Given the description of an element on the screen output the (x, y) to click on. 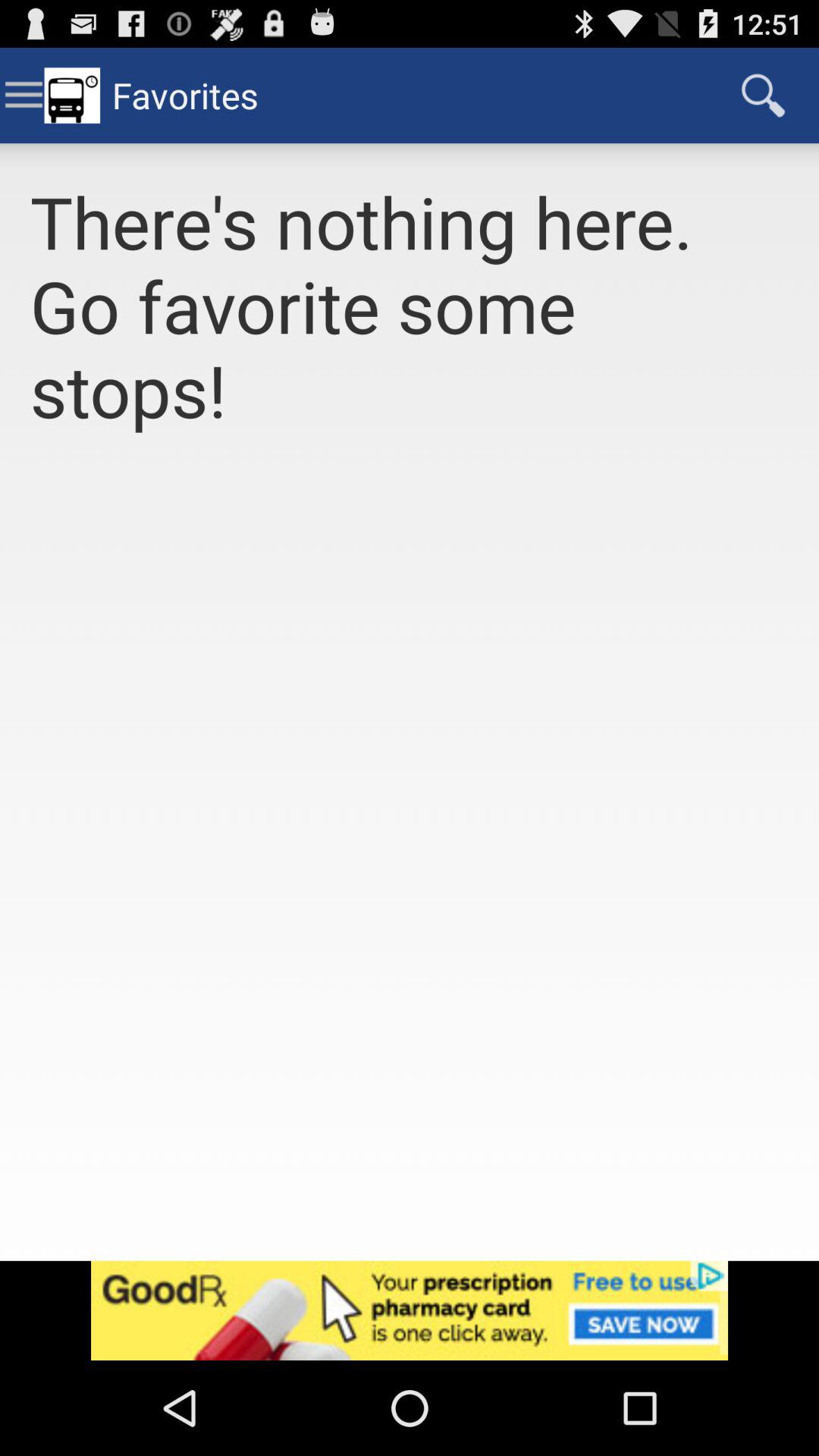
empty page (409, 864)
